Given the description of an element on the screen output the (x, y) to click on. 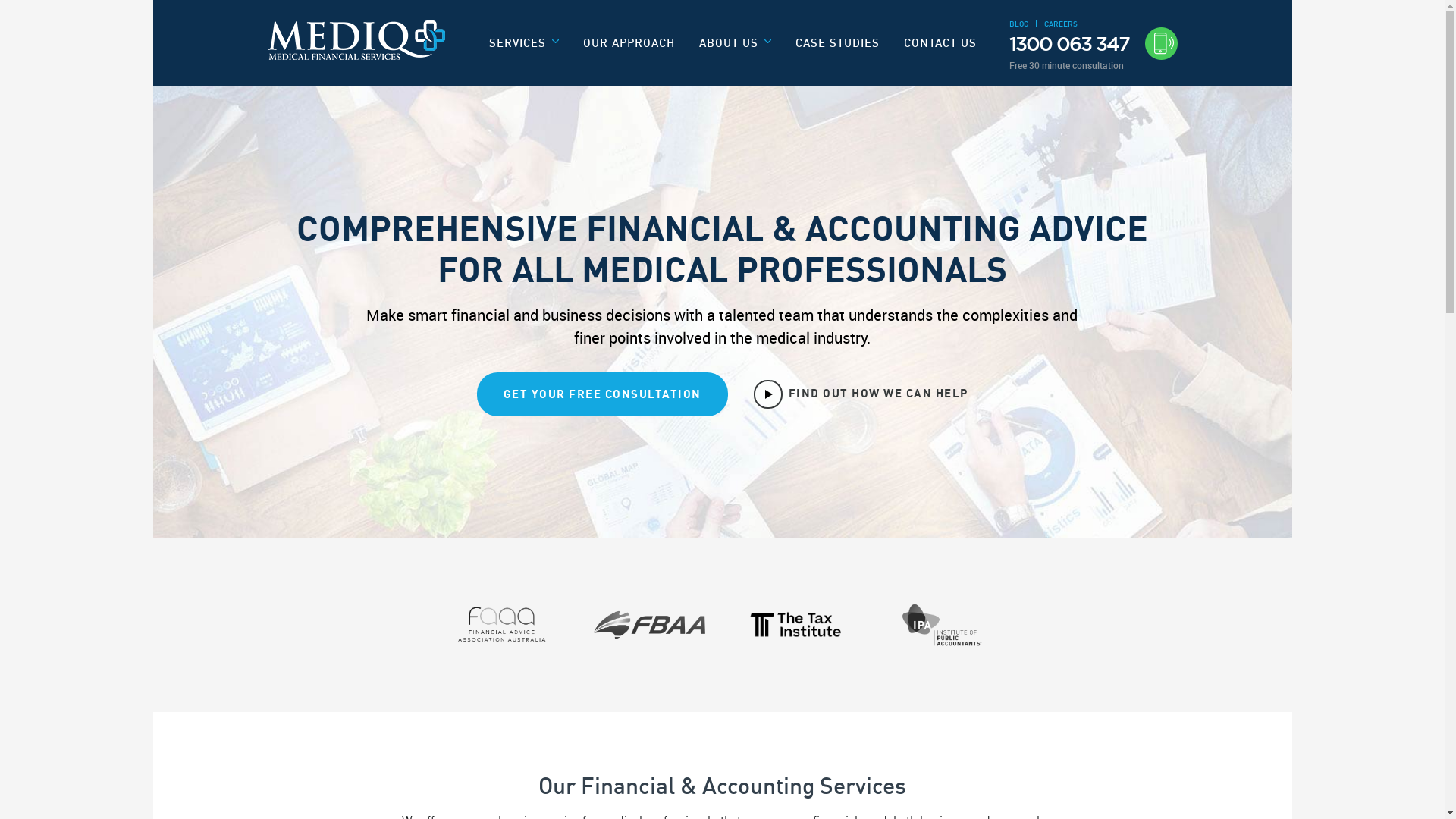
FIND OUT HOW WE CAN HELP Element type: text (860, 393)
SERVICES Element type: text (523, 47)
BLOG Element type: text (1017, 23)
CASE STUDIES Element type: text (837, 42)
Free 30 minute consultation Element type: text (1092, 64)
1300 063 347 Element type: text (1092, 43)
ABOUT US Element type: text (735, 47)
OUR APPROACH Element type: text (628, 42)
GET YOUR FREE CONSULTATION Element type: text (601, 394)
CAREERS Element type: text (1059, 23)
CONTACT US Element type: text (939, 42)
